Given the description of an element on the screen output the (x, y) to click on. 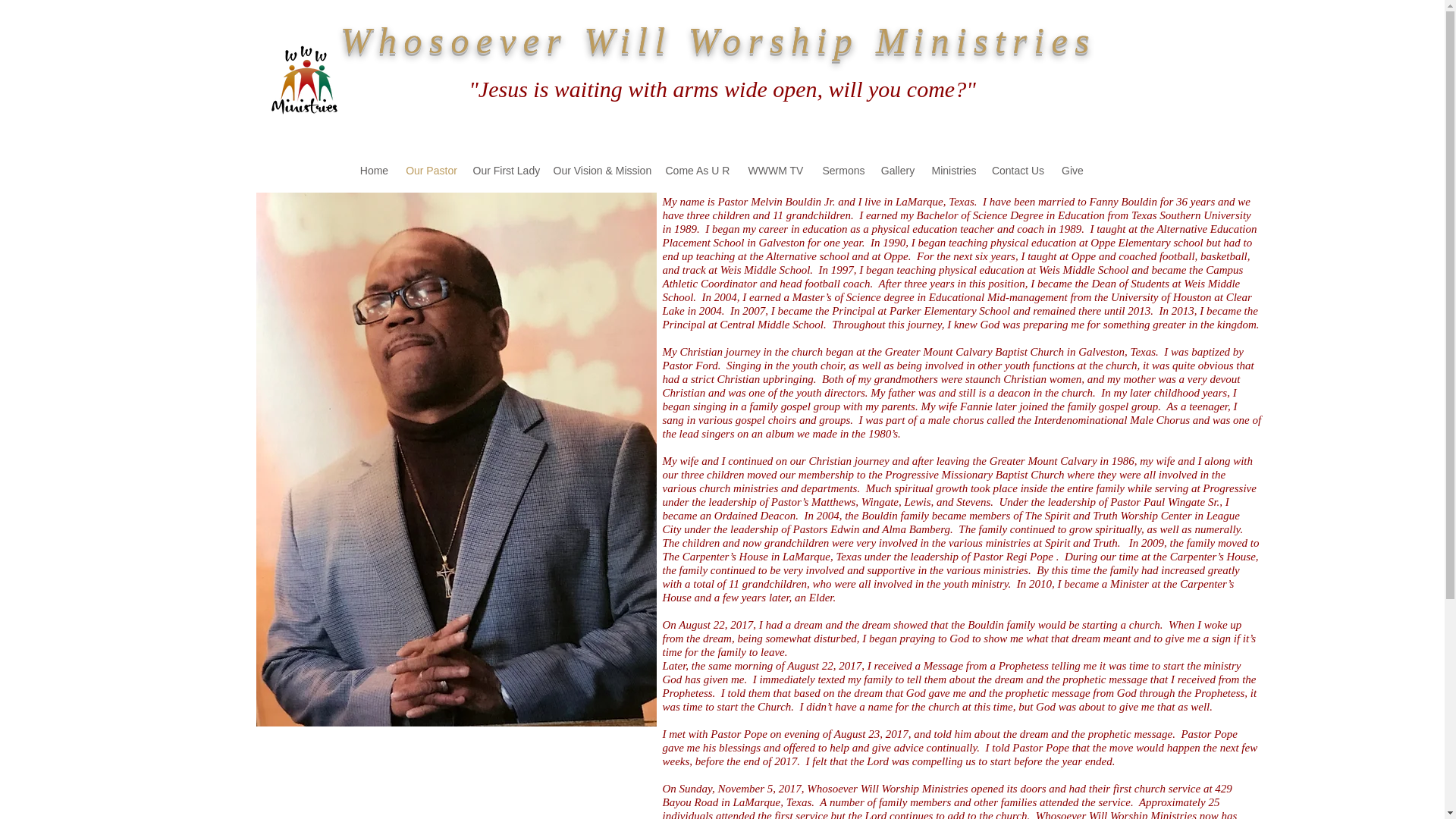
Gallery (898, 170)
Our Pastor (430, 170)
Give (1072, 170)
Come As U R (697, 170)
Whosoever Will Worship Ministries (718, 40)
Sermons (841, 170)
Contact Us (1018, 170)
Our First Lady (505, 170)
Ministries (953, 170)
Home (373, 170)
